Given the description of an element on the screen output the (x, y) to click on. 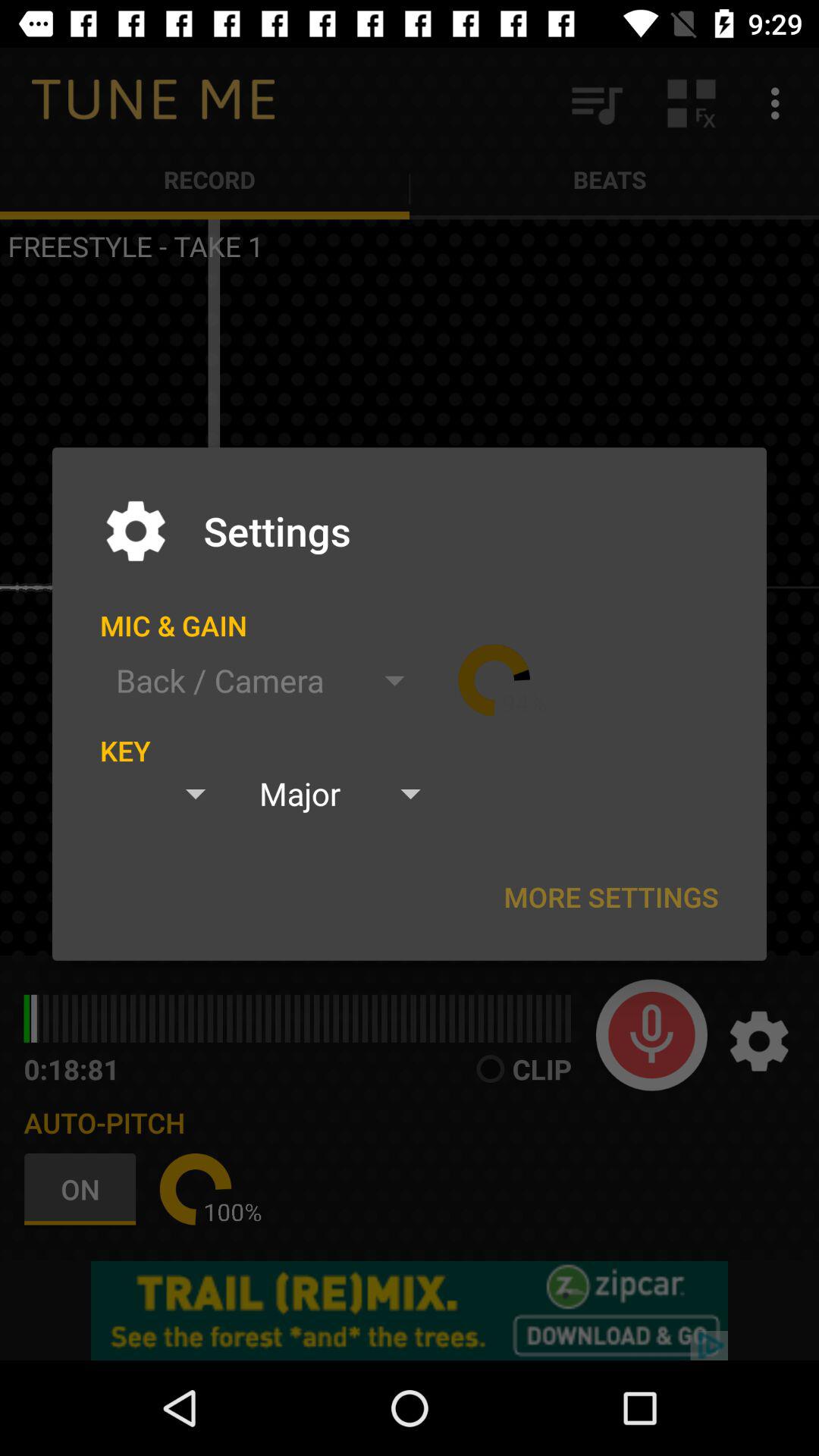
click the on icon (83, 1189)
